Given the description of an element on the screen output the (x, y) to click on. 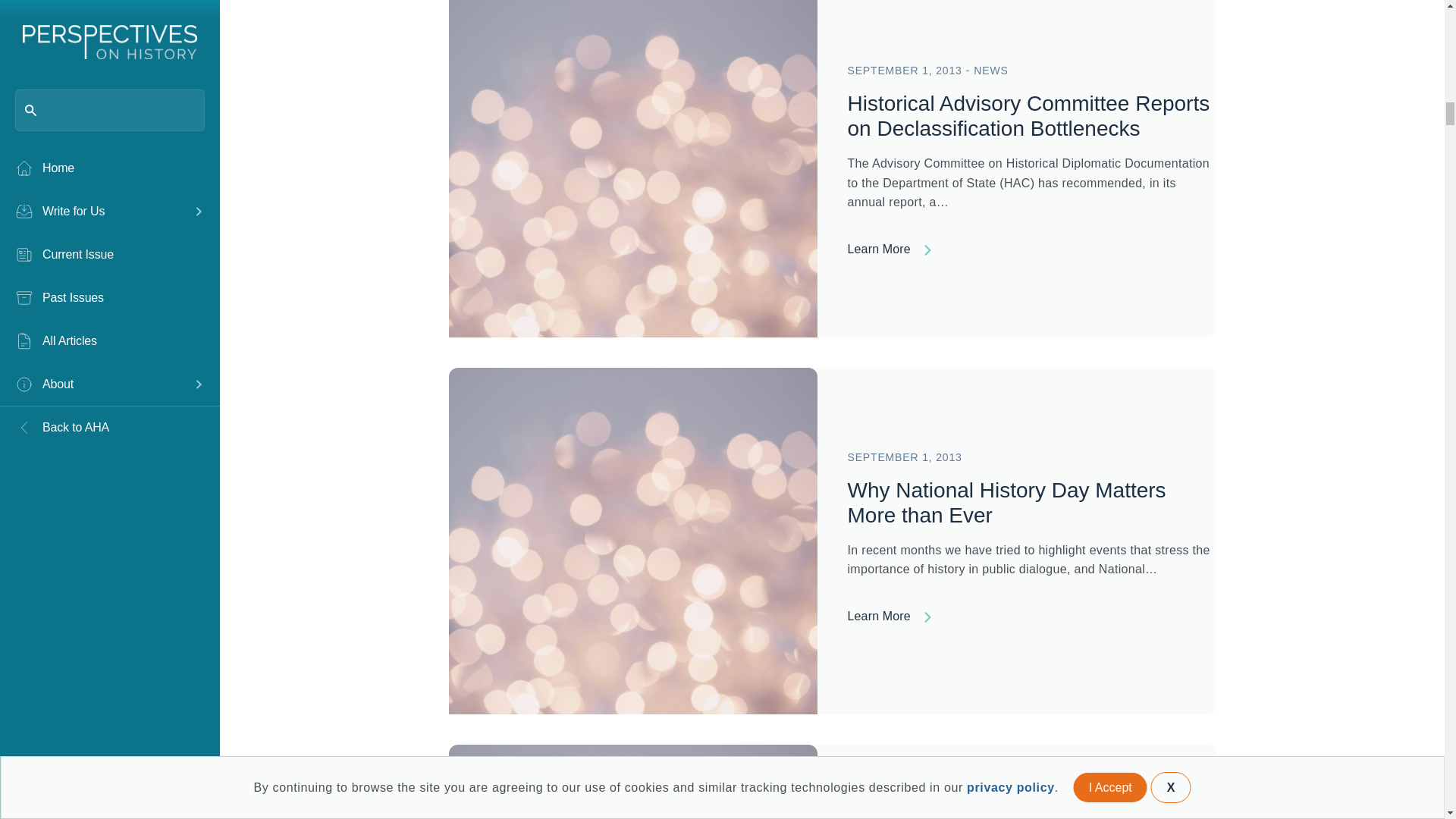
Why National History Day Matters More than Ever (632, 539)
